Given the description of an element on the screen output the (x, y) to click on. 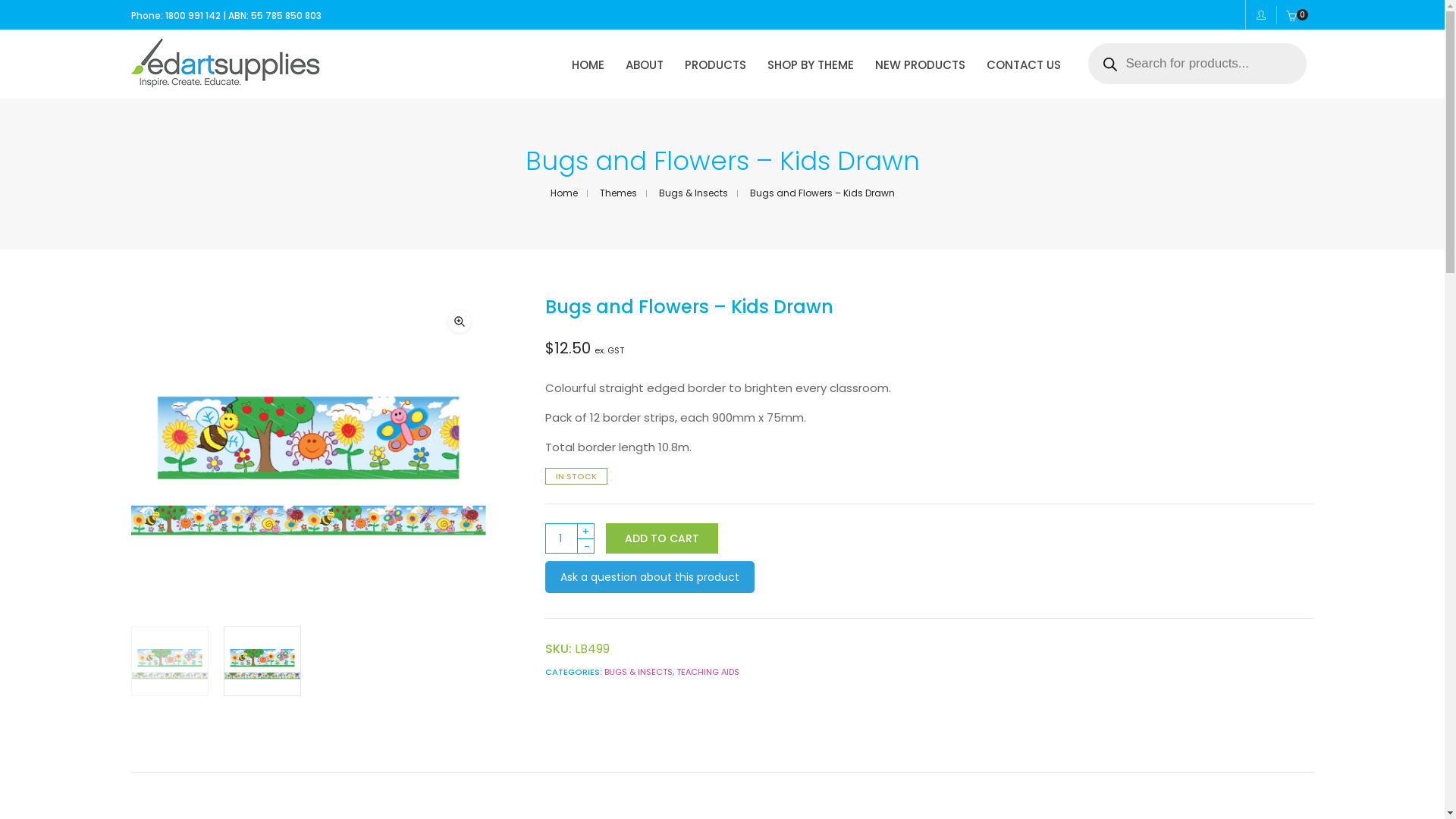
NEW PRODUCTS Element type: text (920, 64)
SHOP BY THEME Element type: text (810, 64)
Themes Element type: text (617, 192)
Bugs and Flowers - Kids Drawn Element type: hover (307, 452)
HOME Element type: text (587, 64)
ABOUT Element type: text (643, 64)
BUGS & INSECTS Element type: text (637, 671)
Home Element type: text (563, 192)
Bugs & Insects Element type: text (692, 192)
Educational Art Supplies Element type: hover (224, 81)
CONTACT US Element type: text (1022, 64)
ADD TO CART Element type: text (661, 538)
PRODUCTS Element type: text (714, 64)
Ask a question about this product Element type: text (648, 577)
TEACHING AIDS Element type: text (707, 671)
